Given the description of an element on the screen output the (x, y) to click on. 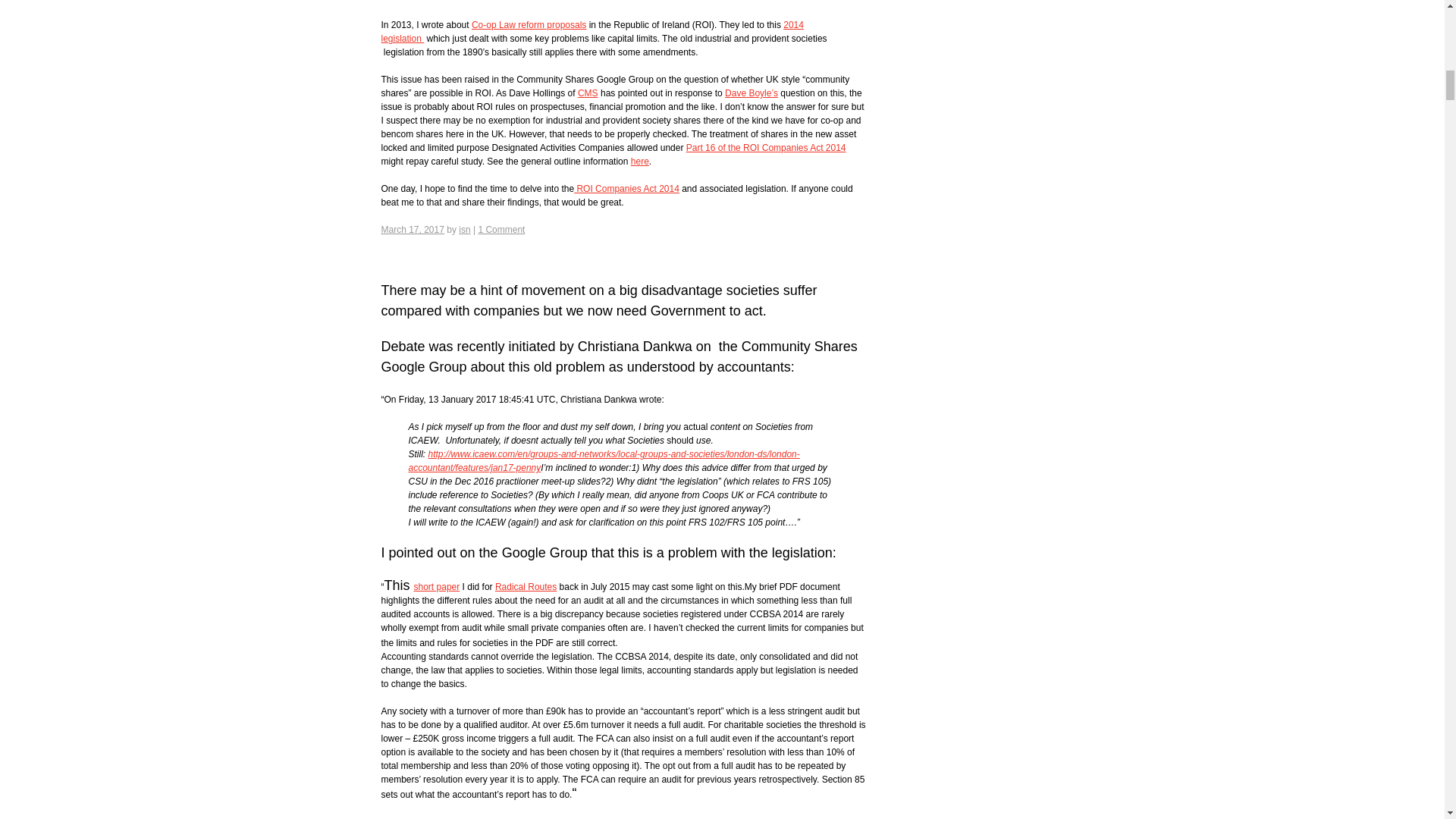
here (639, 161)
CMS (588, 92)
Co-op Law reform proposals (528, 24)
2014 legislation  (591, 31)
ROI Companies Act 2014 (626, 188)
10:50 am (412, 229)
March 17, 2017 (412, 229)
View all posts by isn (464, 229)
Part 16 of the ROI Companies Act 2014 (765, 147)
isn (464, 229)
